Given the description of an element on the screen output the (x, y) to click on. 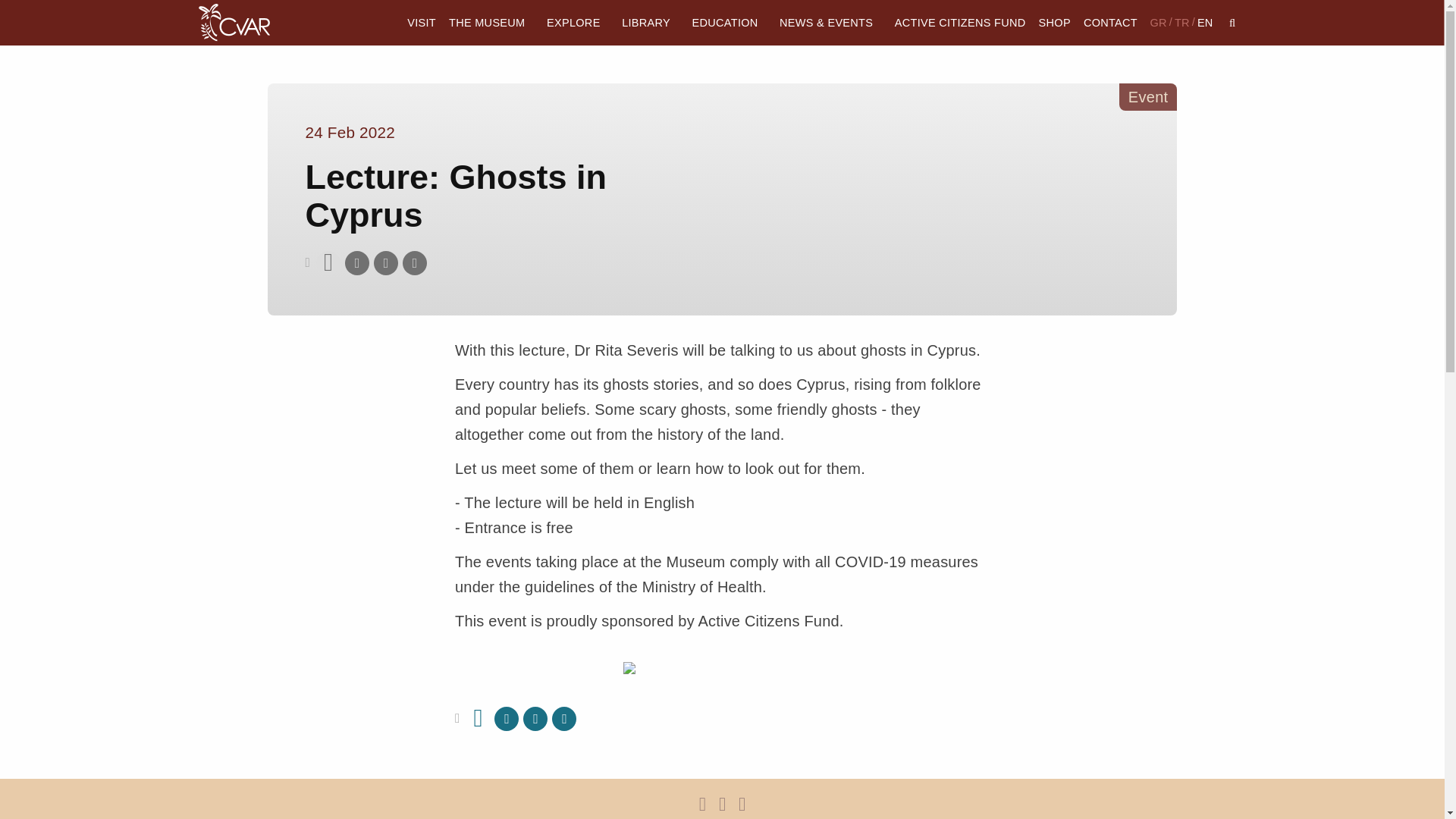
VISIT (421, 22)
EXPLORE (577, 22)
EDUCATION (729, 22)
LIBRARY (650, 22)
THE MUSEUM (490, 22)
